Given the description of an element on the screen output the (x, y) to click on. 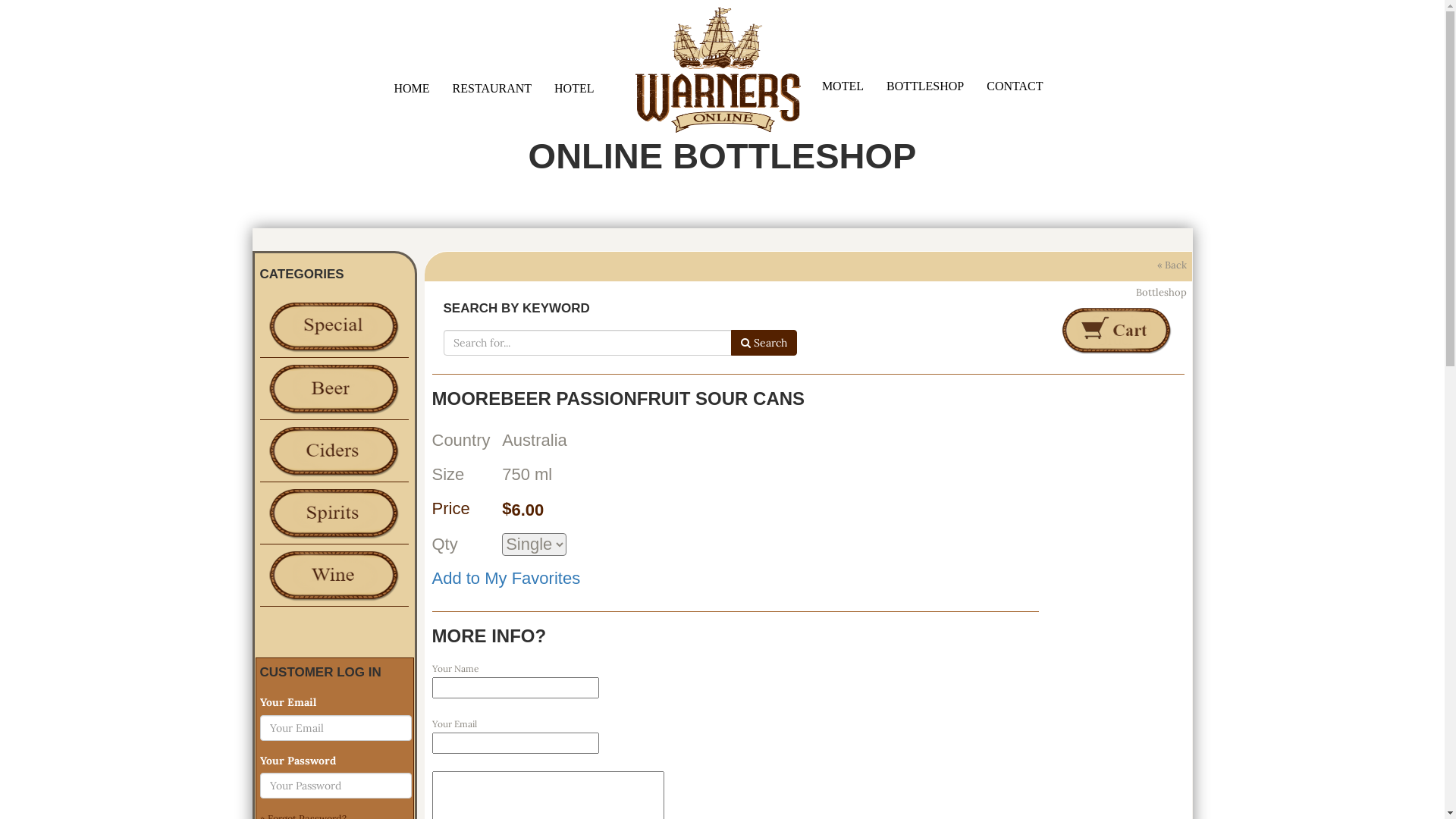
Bottleshop Element type: hover (329, 448)
Bottleshop Element type: hover (329, 572)
Bottleshop Element type: text (1160, 291)
Search Element type: text (764, 342)
Add to My Favorites Element type: text (506, 577)
HOTEL Element type: text (573, 87)
HOME Element type: text (411, 87)
RESTAURANT Element type: text (492, 87)
Bottleshop Element type: hover (329, 324)
MOTEL Element type: text (842, 85)
CONTACT Element type: text (1014, 85)
BOTTLESHOP Element type: text (924, 85)
Bottleshop Element type: hover (329, 386)
Bottleshop Element type: hover (329, 510)
